Given the description of an element on the screen output the (x, y) to click on. 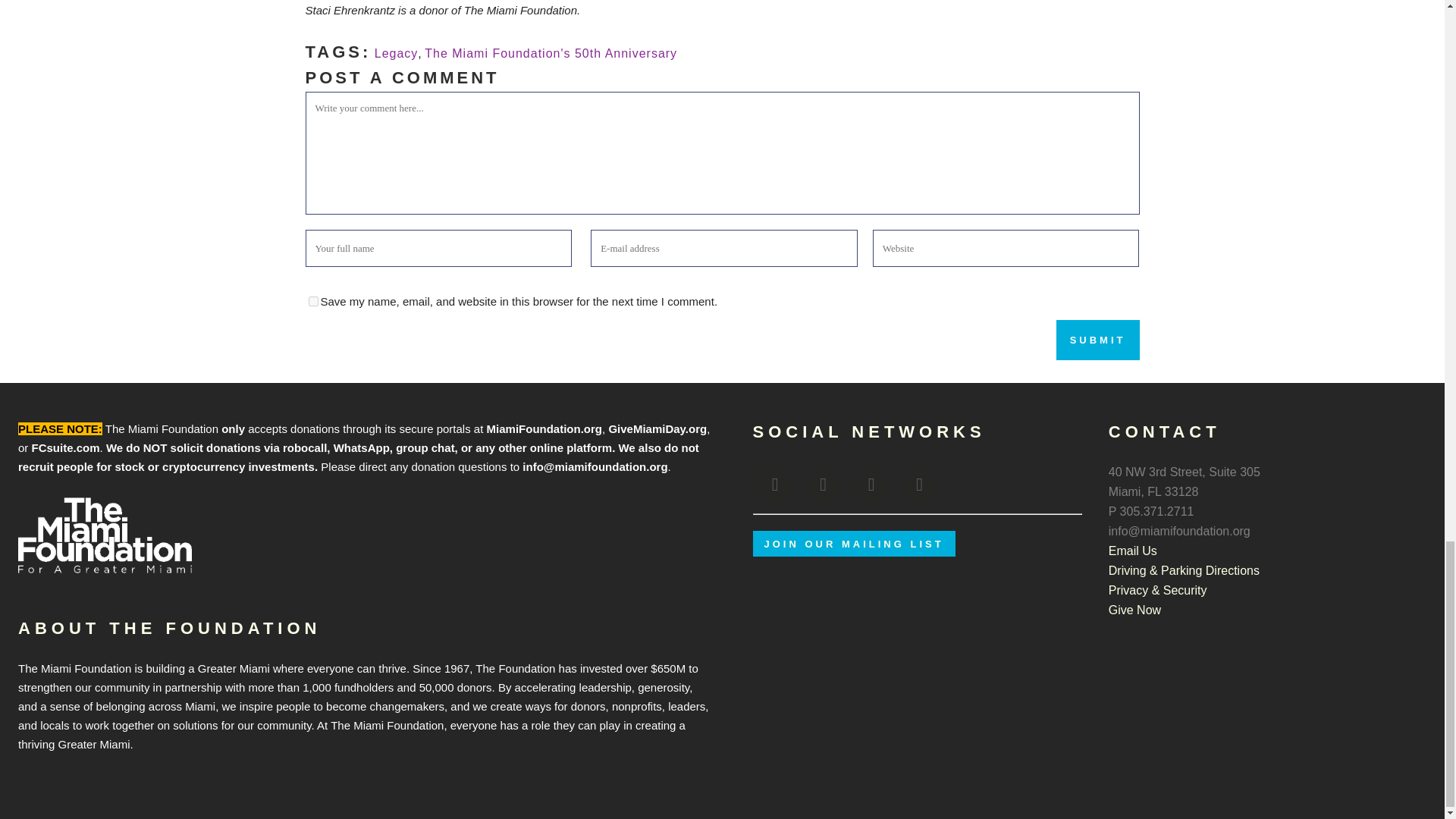
Submit (1098, 340)
yes (312, 301)
